Given the description of an element on the screen output the (x, y) to click on. 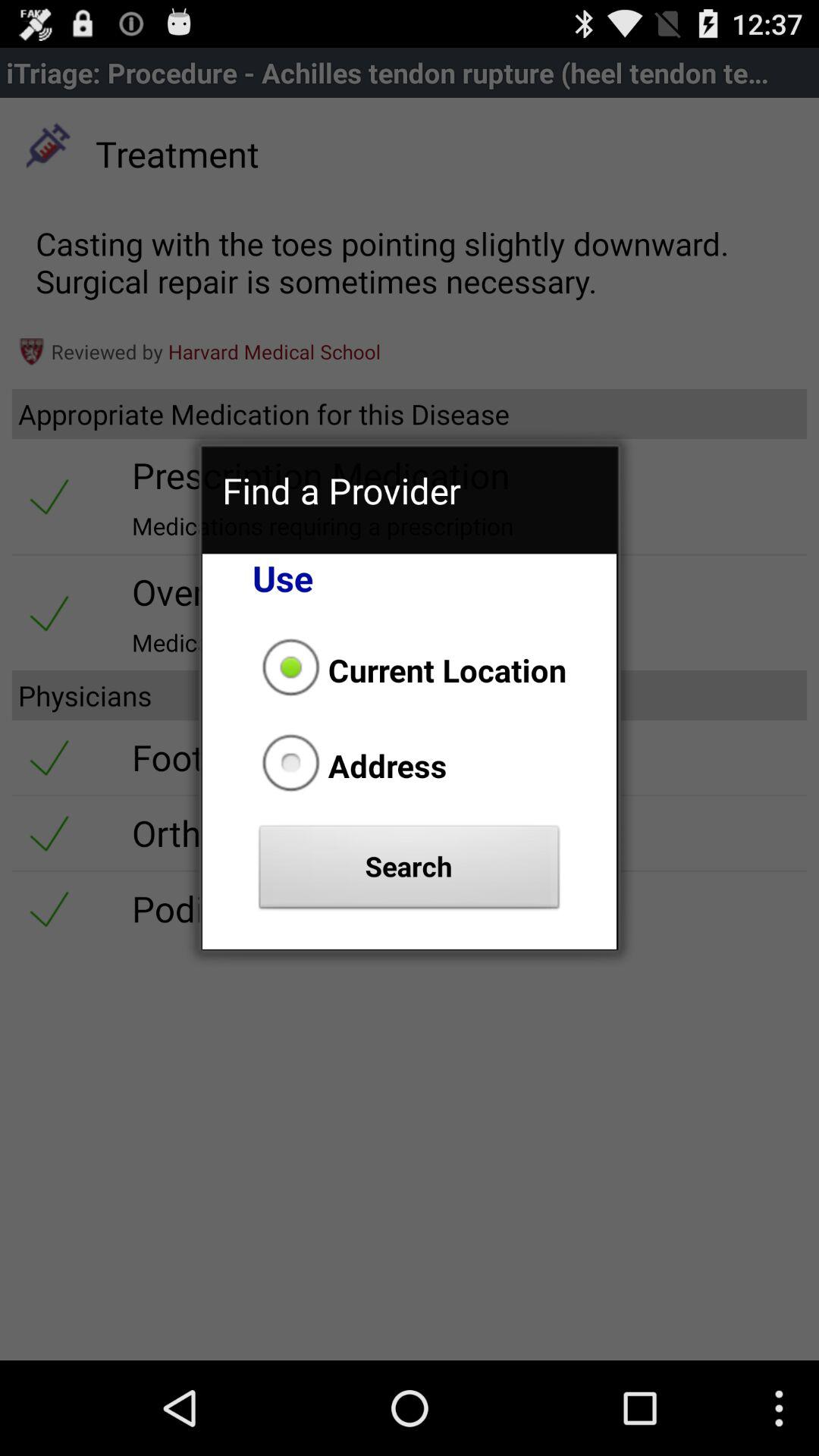
flip to the current location icon (409, 669)
